Given the description of an element on the screen output the (x, y) to click on. 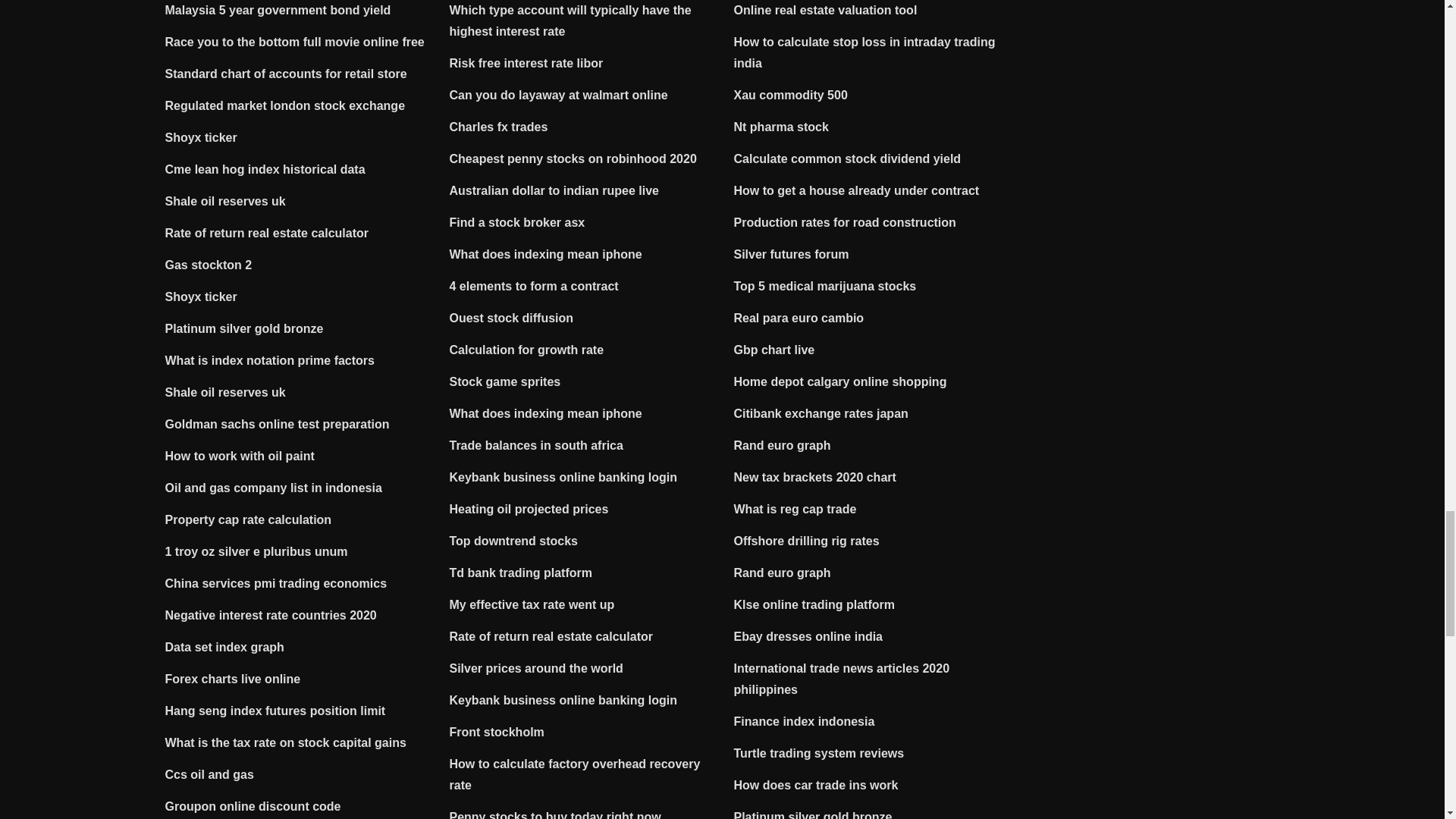
Cme lean hog index historical data (265, 169)
Ccs oil and gas (209, 774)
Forex charts live online (233, 678)
Standard chart of accounts for retail store (286, 73)
Platinum silver gold bronze (244, 328)
How to work with oil paint (239, 455)
Goldman sachs online test preparation (277, 423)
Oil and gas company list in indonesia (273, 487)
Shale oil reserves uk (225, 391)
Regulated market london stock exchange (285, 105)
